Given the description of an element on the screen output the (x, y) to click on. 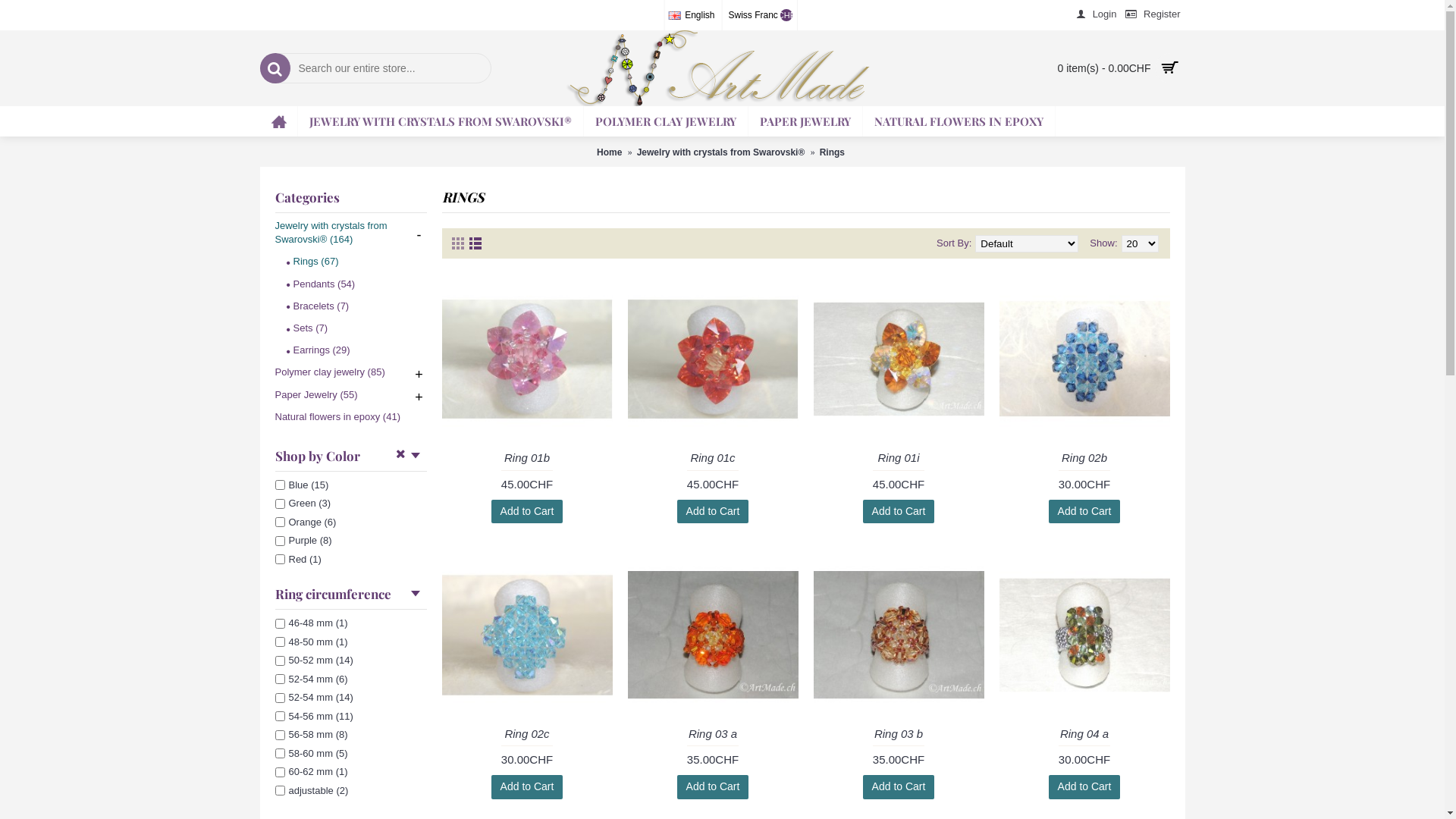
Add to Cart Element type: text (713, 786)
Artmade.ch Element type: hover (722, 68)
Sets (7) Element type: text (350, 326)
Bracelets (7) Element type: text (350, 304)
Login Element type: text (1095, 15)
Ring 04 a Element type: hover (1084, 634)
Add to Cart Element type: text (1084, 786)
Ring 02c Element type: hover (526, 634)
Ring 03 a Element type: hover (712, 634)
Pendants (54) Element type: text (350, 282)
Ring 03 a Element type: text (712, 733)
Ring 02b Element type: hover (1084, 358)
POLYMER CLAY JEWELRY Element type: text (665, 121)
Ring 01c Element type: hover (712, 358)
Ring 02c Element type: text (526, 733)
Add to Cart Element type: text (898, 510)
Natural flowers in epoxy (41) Element type: text (350, 414)
Ring 03 b Element type: text (897, 733)
Home Element type: text (608, 152)
Ring 01b Element type: text (526, 457)
Add to Cart Element type: text (713, 510)
Ring 01i Element type: hover (897, 358)
Register Element type: text (1152, 15)
Paper Jewelry (55)
+ Element type: text (350, 393)
Add to Cart Element type: text (898, 786)
Swiss Franc
CHF Element type: text (759, 15)
Ring 01b Element type: hover (526, 358)
Rings Element type: text (831, 152)
Add to Cart Element type: text (527, 510)
Ring 01c Element type: text (712, 457)
NATURAL FLOWERS IN EPOXY Element type: text (958, 121)
Earrings (29) Element type: text (350, 348)
Ring 01i Element type: text (897, 457)
Ring 02b Element type: text (1084, 457)
Rings (67) Element type: text (350, 259)
0 item(s) - 0.00CHF Element type: text (1069, 68)
Add to Cart Element type: text (527, 786)
Add to Cart Element type: text (1084, 510)
PAPER JEWELRY Element type: text (804, 121)
Ring 04 a Element type: text (1084, 733)
English Element type: text (692, 15)
Polymer clay jewelry (85)
+ Element type: text (350, 370)
Ring 03 b Element type: hover (897, 634)
